Given the description of an element on the screen output the (x, y) to click on. 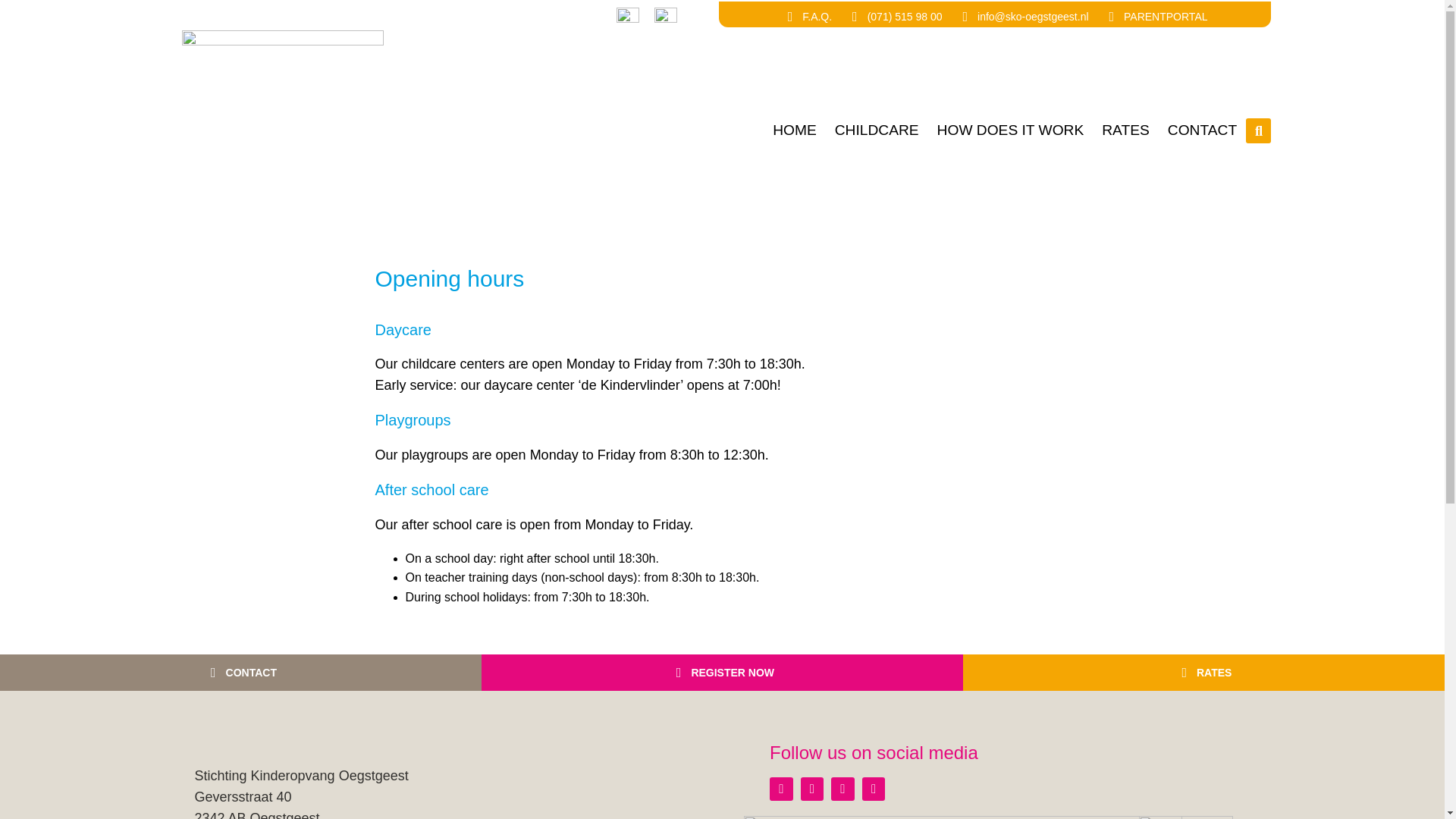
CHILDCARE (876, 130)
HOME (793, 130)
HOW DOES IT WORK (1010, 130)
RATES (1125, 130)
PARENTPORTAL (1155, 16)
F.A.Q. (806, 16)
CONTACT (1202, 130)
